Given the description of an element on the screen output the (x, y) to click on. 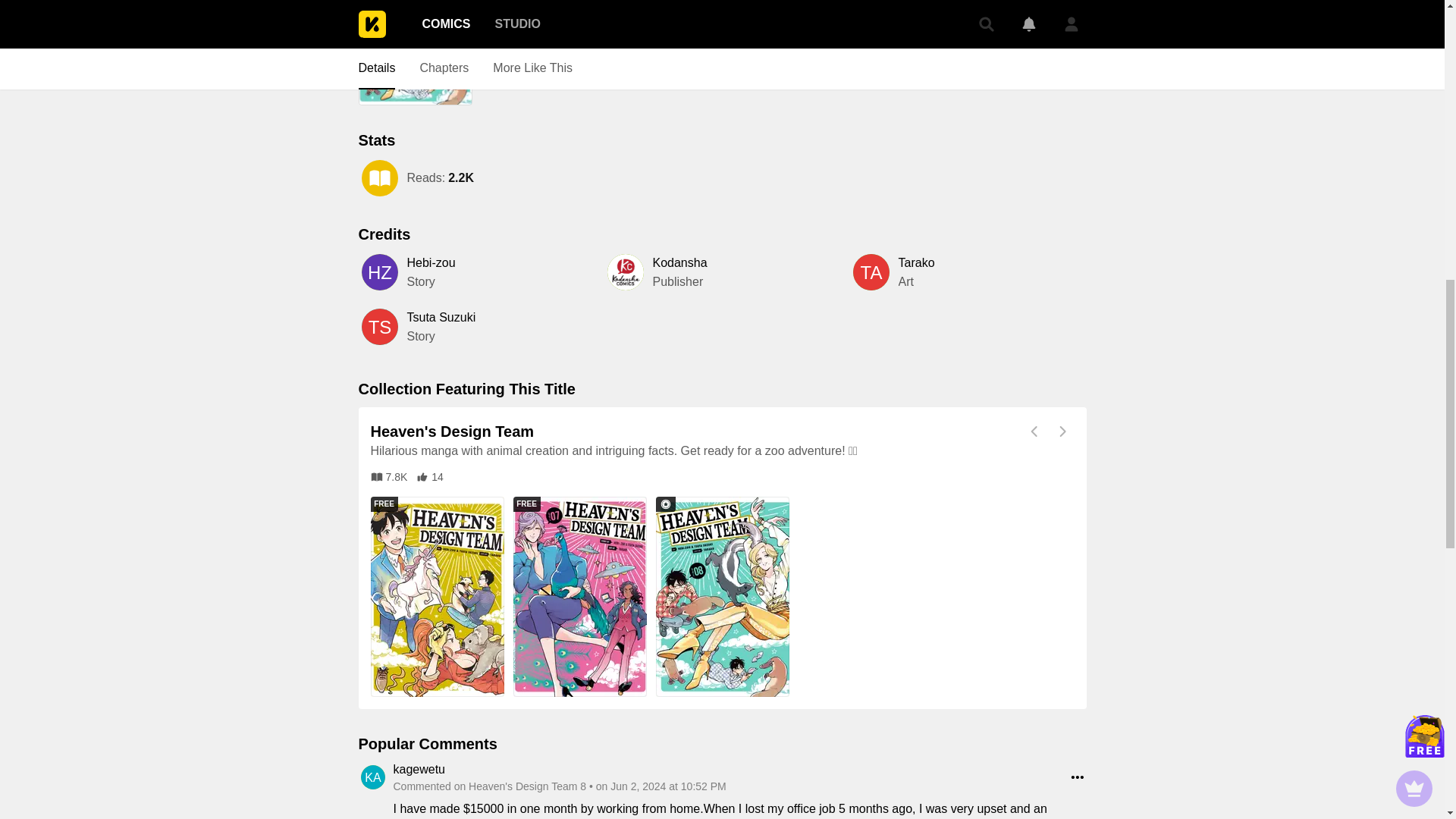
Hebi-zou (430, 262)
Kodansha (679, 262)
Tsuta Suzuki (441, 316)
Tarako (916, 262)
